Given the description of an element on the screen output the (x, y) to click on. 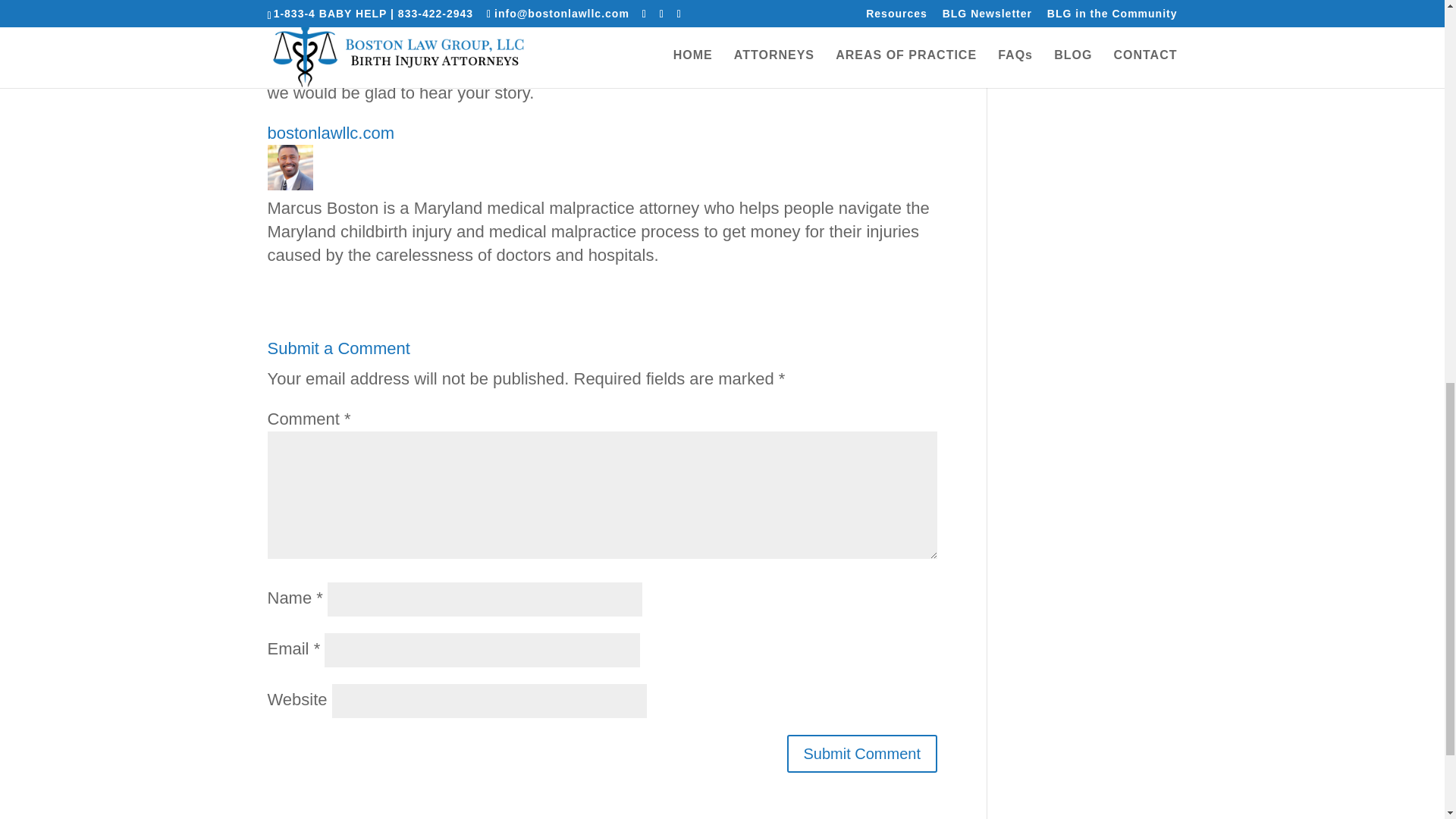
Submit Comment (862, 753)
bostonlawllc.com (330, 132)
Submit Comment (862, 753)
